Given the description of an element on the screen output the (x, y) to click on. 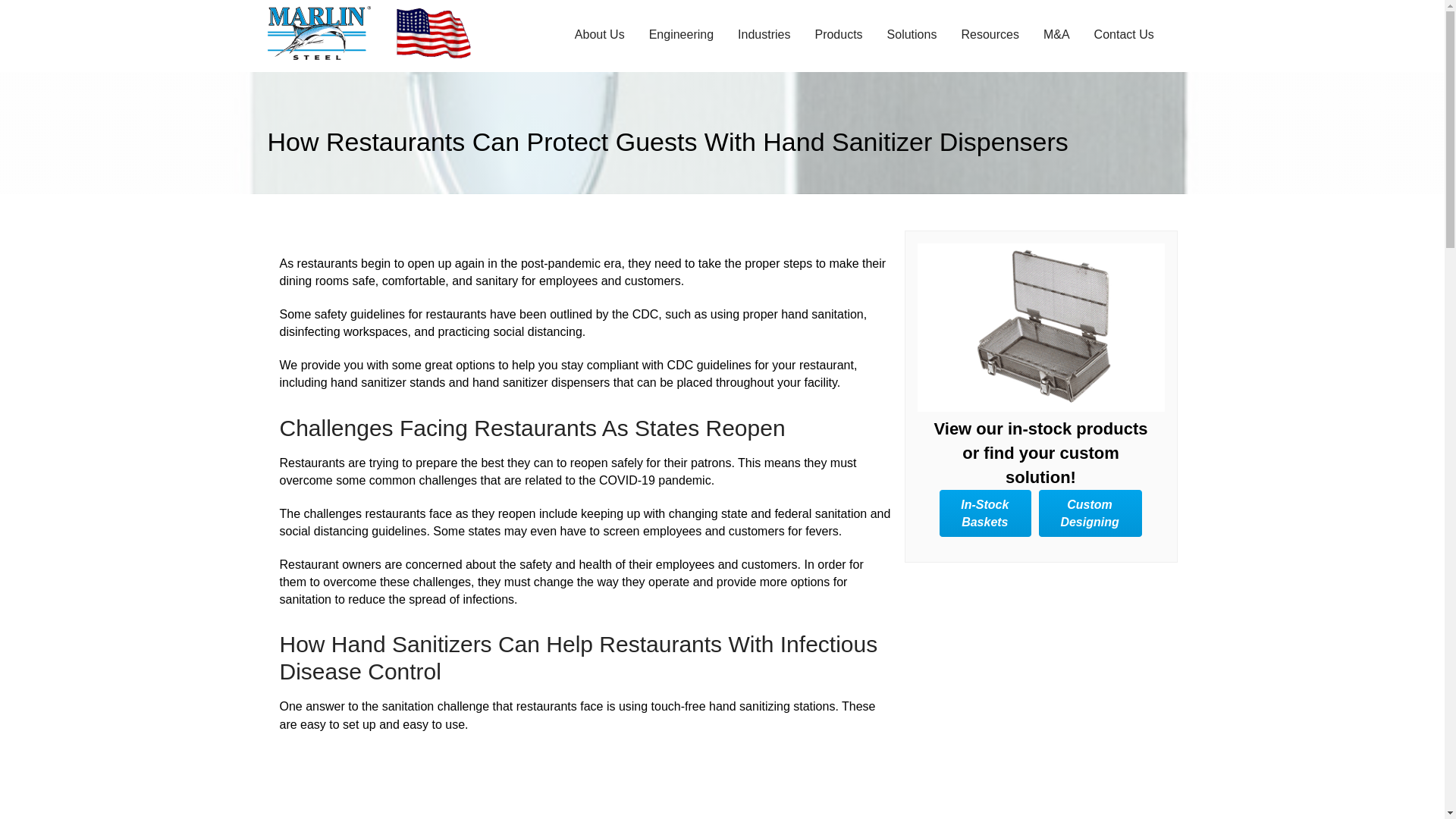
Engineering (681, 34)
About Us (599, 34)
Industries (764, 34)
View our in-stock products (1040, 327)
Marlin Steel (331, 32)
Products (837, 34)
